Given the description of an element on the screen output the (x, y) to click on. 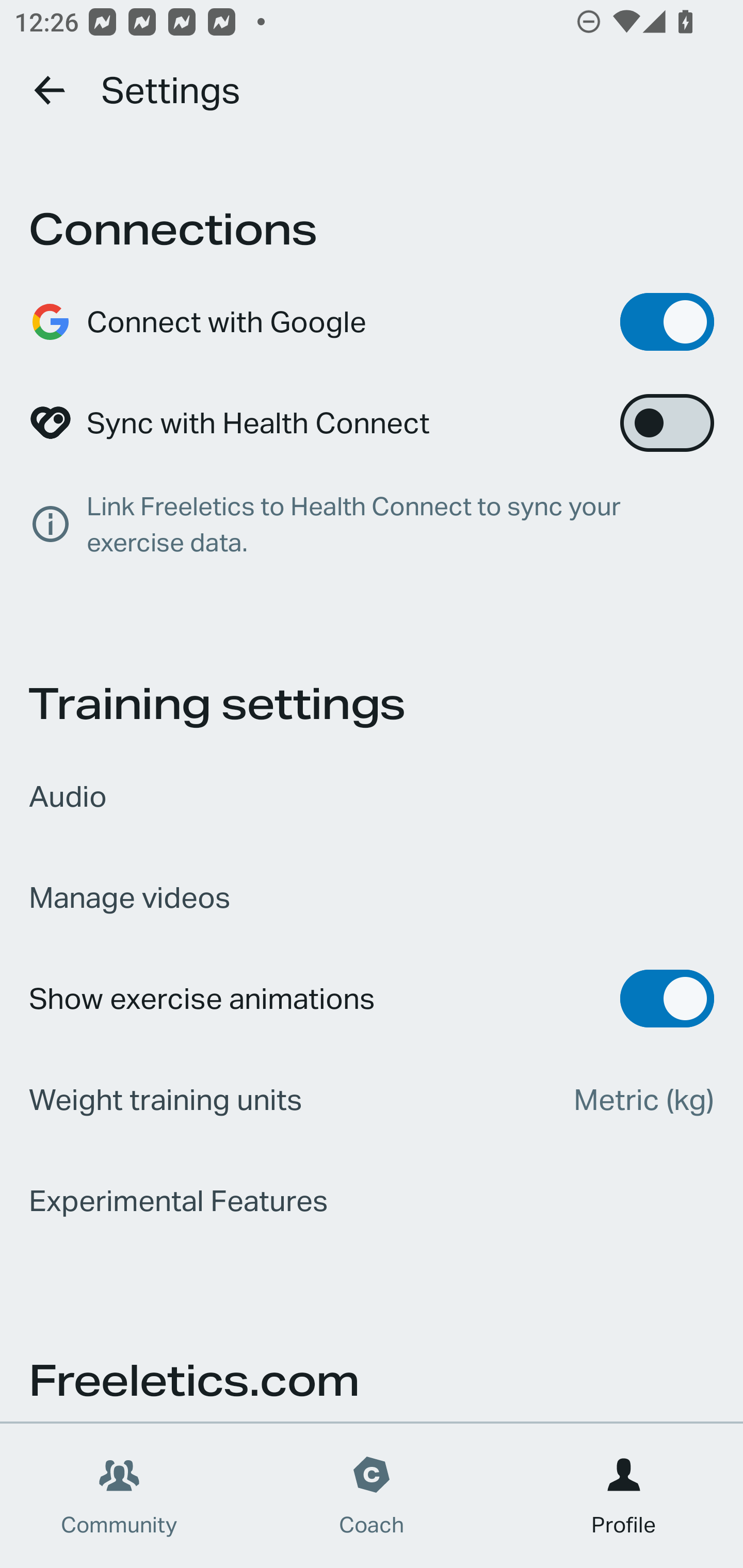
Go back (50, 90)
Connect with Google (371, 322)
Sync with Health Connect (371, 423)
Audio (371, 796)
Manage videos (371, 897)
Show exercise animations (371, 998)
Weight training units Metric (kg) (371, 1099)
Experimental Features (371, 1200)
Community (119, 1495)
Coach (371, 1495)
